Given the description of an element on the screen output the (x, y) to click on. 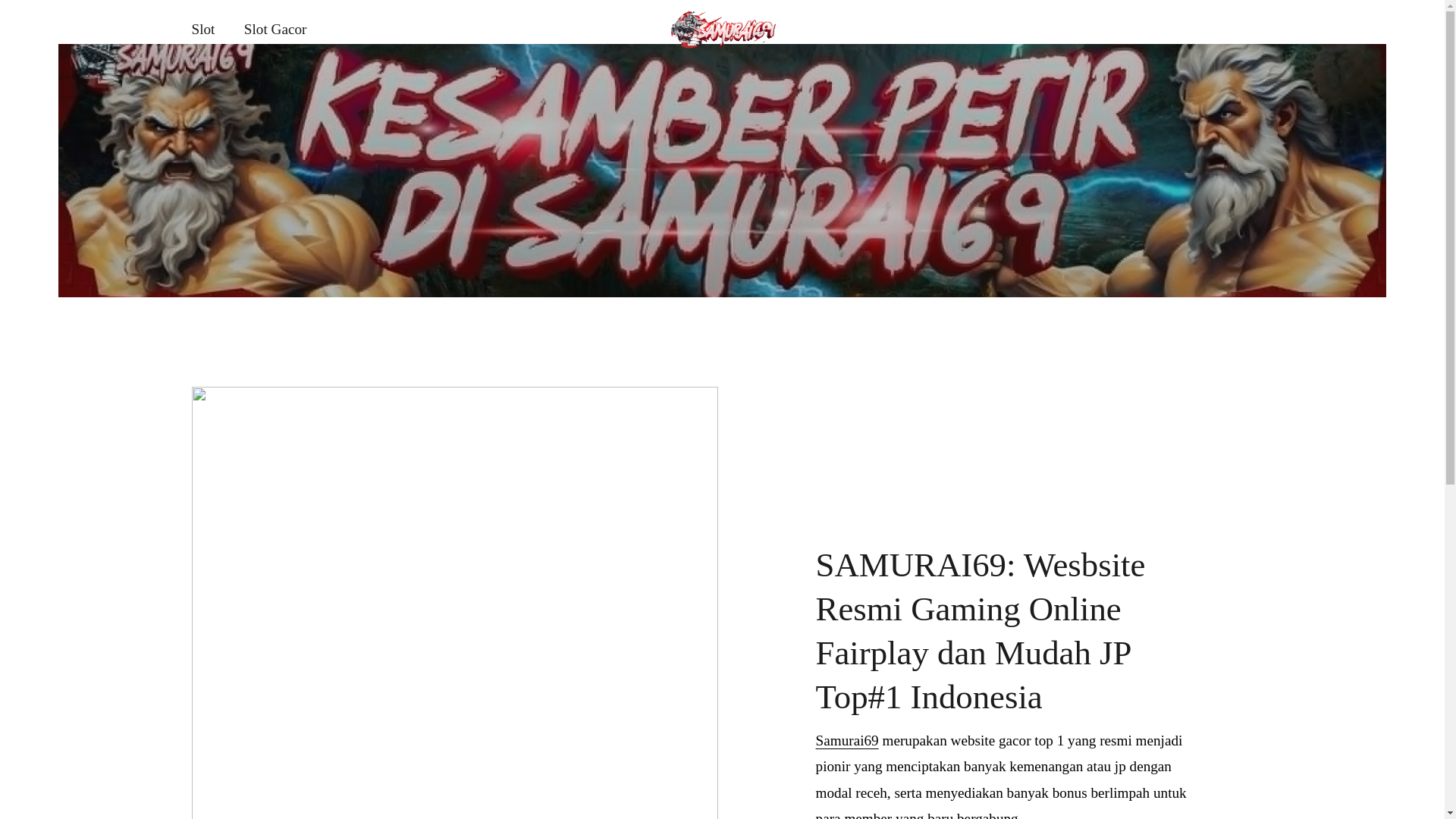
Slot Gacor (275, 29)
Samurai69 (847, 740)
